Given the description of an element on the screen output the (x, y) to click on. 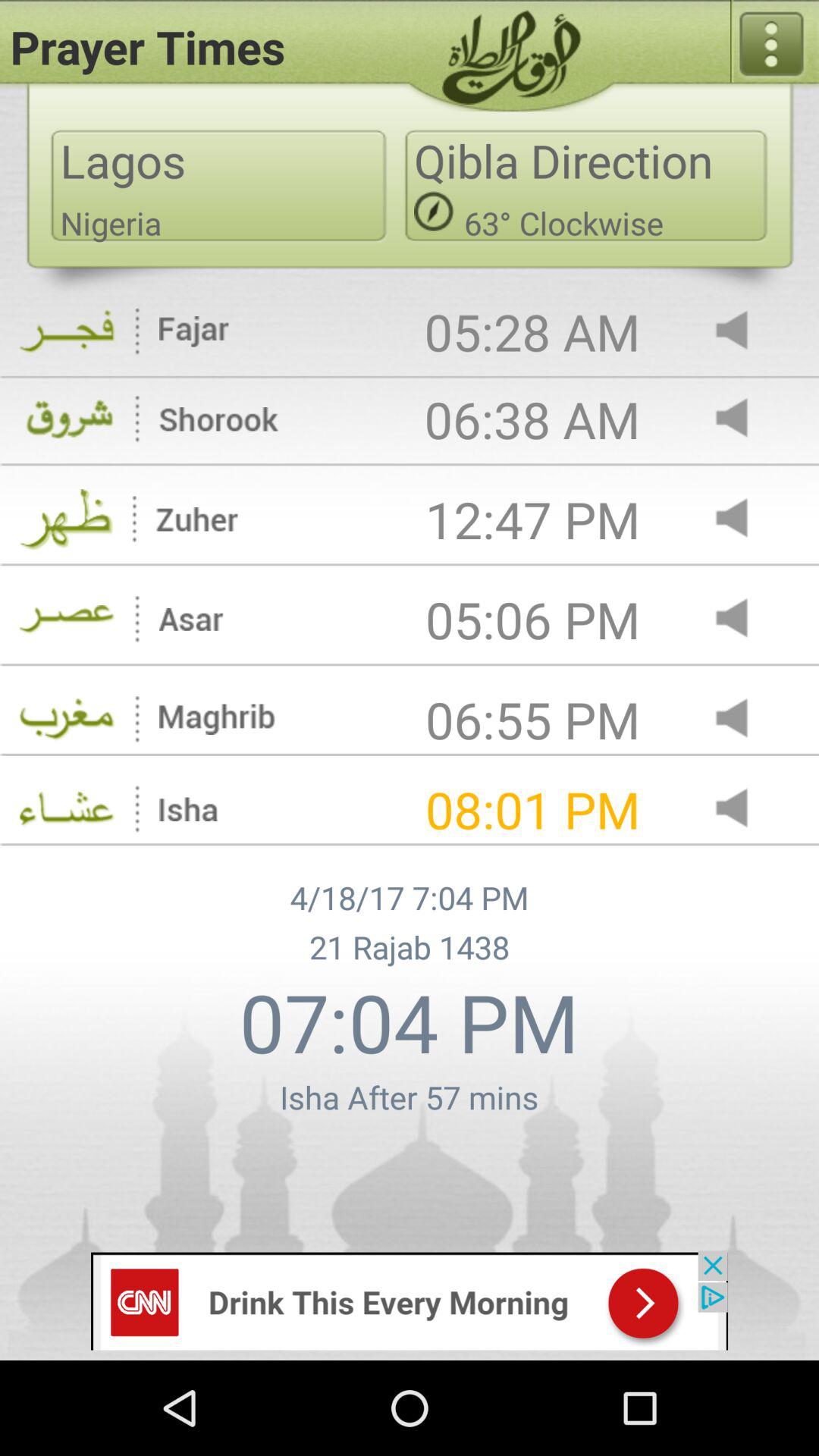
select volume (744, 331)
